Given the description of an element on the screen output the (x, y) to click on. 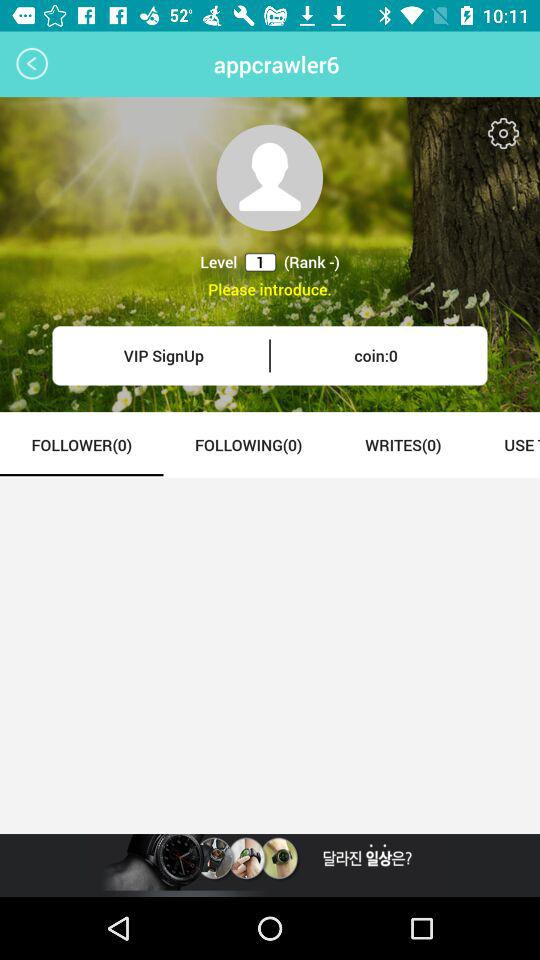
turn on the icon to the right of writes(0) icon (506, 444)
